Given the description of an element on the screen output the (x, y) to click on. 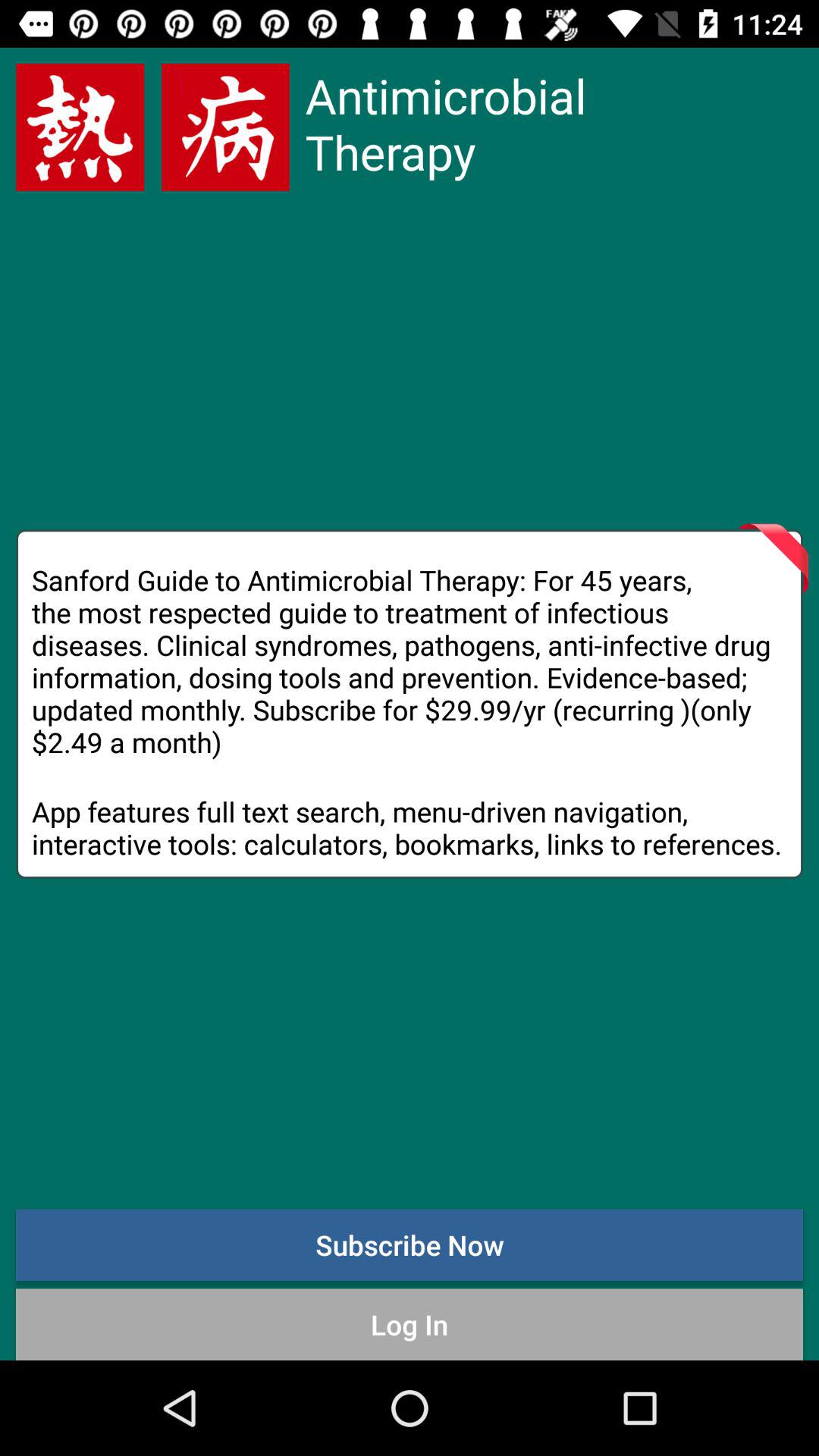
flip to log in item (409, 1324)
